Given the description of an element on the screen output the (x, y) to click on. 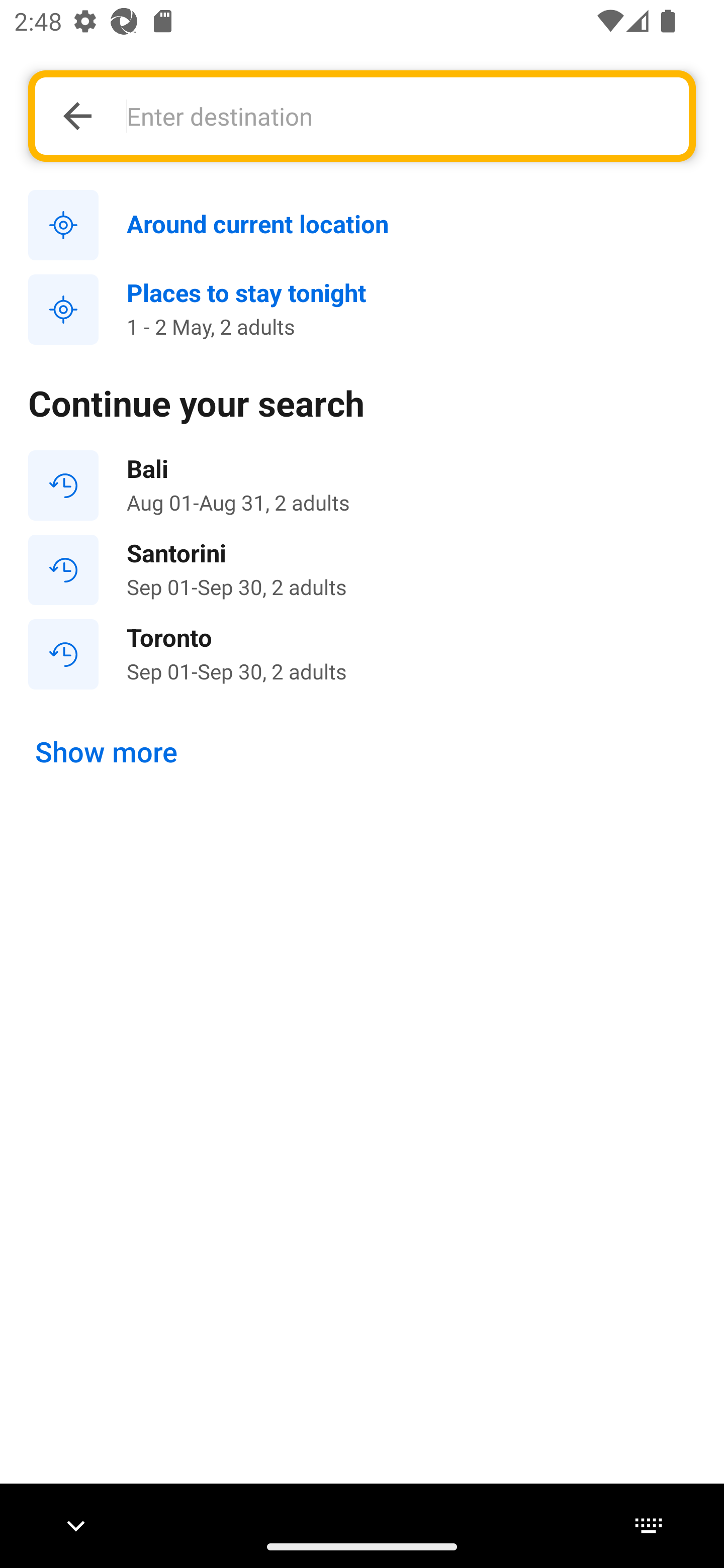
Enter destination (396, 115)
Around current location (362, 225)
Places to stay tonight 1 - 2 May, 2 adults (362, 309)
Bali Aug 01-Aug 31, 2 adults  (362, 485)
Santorini Sep 01-Sep 30, 2 adults  (362, 569)
Toronto Sep 01-Sep 30, 2 adults  (362, 653)
Show more (106, 752)
